Given the description of an element on the screen output the (x, y) to click on. 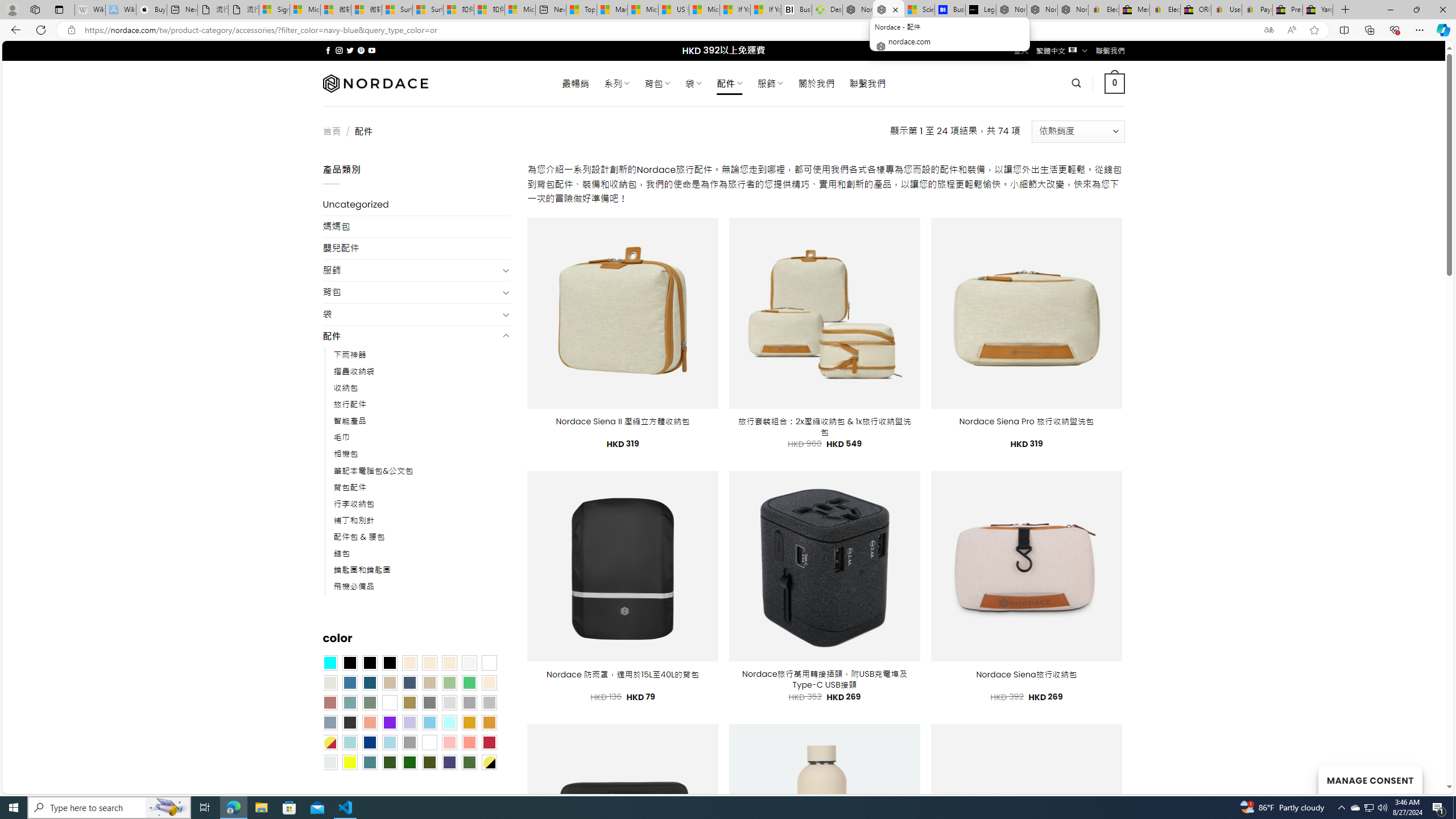
Uncategorized (416, 204)
Marine life - MSN (611, 9)
Nordace - Summer Adventures 2024 (857, 9)
